Given the description of an element on the screen output the (x, y) to click on. 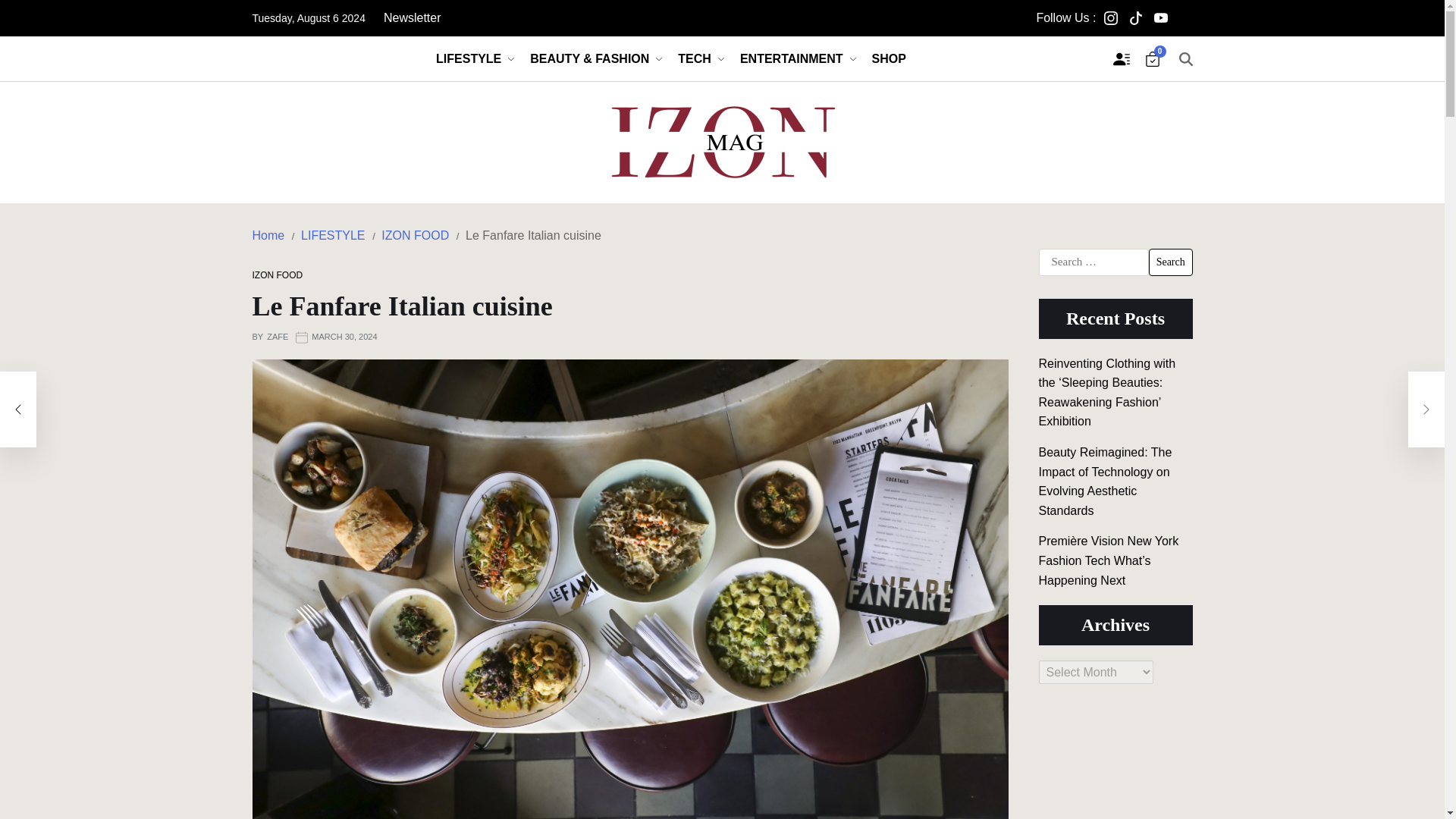
IZON FOOD (414, 235)
LIFESTYLE (475, 58)
Search (1170, 262)
Newsletter (412, 17)
Home (267, 235)
0 (1152, 58)
TECH (701, 58)
ZAFE (277, 336)
LIFESTYLE (333, 235)
Search (1170, 262)
